Given the description of an element on the screen output the (x, y) to click on. 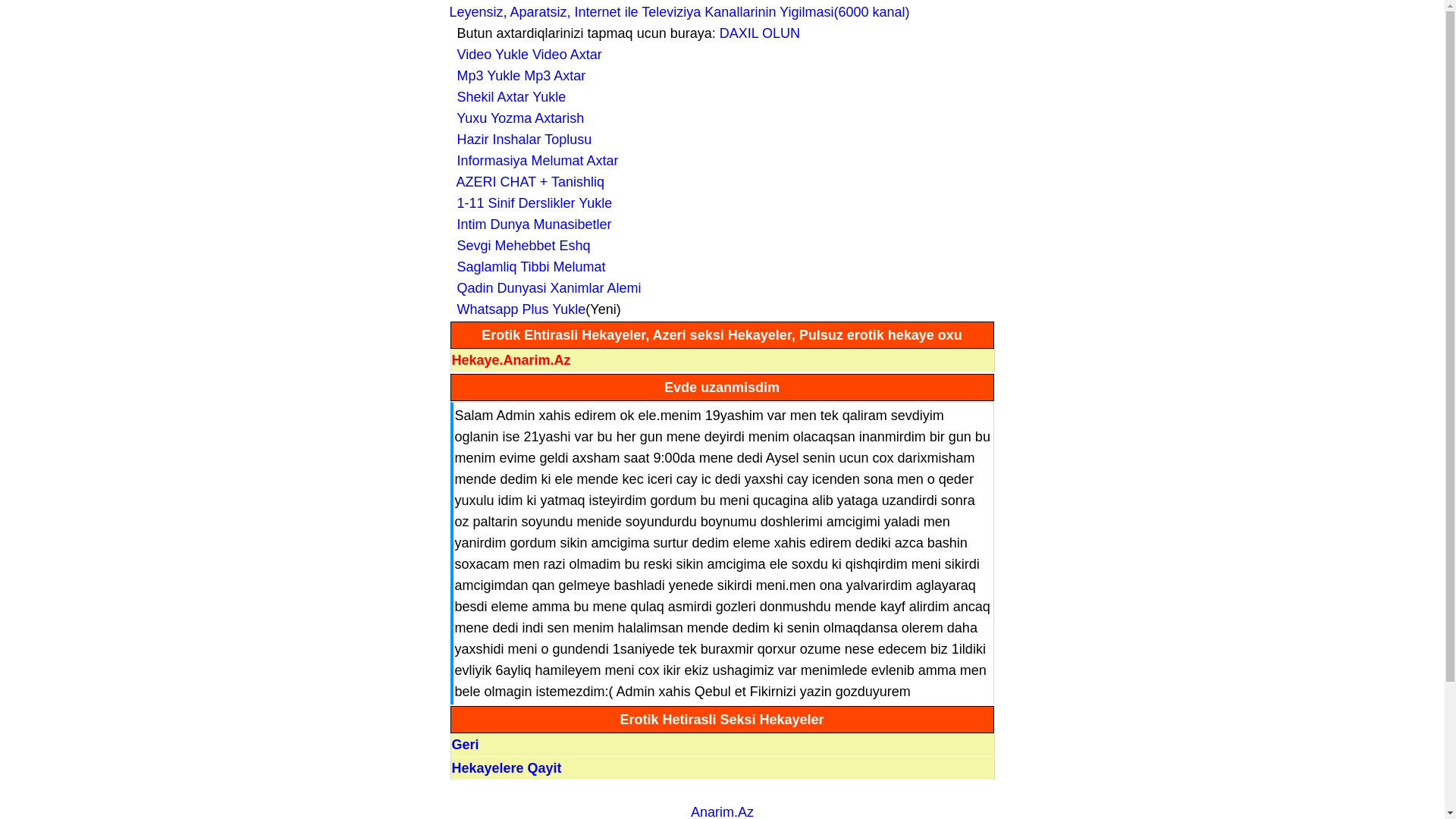
  Whatsapp Plus Yukle Element type: text (516, 308)
  Hazir Inshalar Toplusu Element type: text (519, 139)
Geri Element type: text (465, 744)
  Informasiya Melumat Axtar Element type: text (533, 160)
  Sevgi Mehebbet Eshq Element type: text (518, 245)
  AZERI CHAT + Tanishliq Element type: text (526, 181)
Hekaye.Anarim.Az Element type: text (511, 359)
  Saglamliq Tibbi Melumat Element type: text (526, 266)
  Intim Dunya Munasibetler Element type: text (529, 224)
  Qadin Dunyasi Xanimlar Alemi Element type: text (544, 287)
  Shekil Axtar Yukle Element type: text (506, 96)
  Mp3 Yukle Mp3 Axtar Element type: text (516, 75)
  1-11 Sinif Derslikler Yukle Element type: text (529, 202)
Hekayelere Qayit Element type: text (506, 767)
  Video Yukle Video Axtar Element type: text (524, 54)
DAXIL OLUN Element type: text (759, 32)
  Yuxu Yozma Axtarish Element type: text (515, 117)
